Given the description of an element on the screen output the (x, y) to click on. 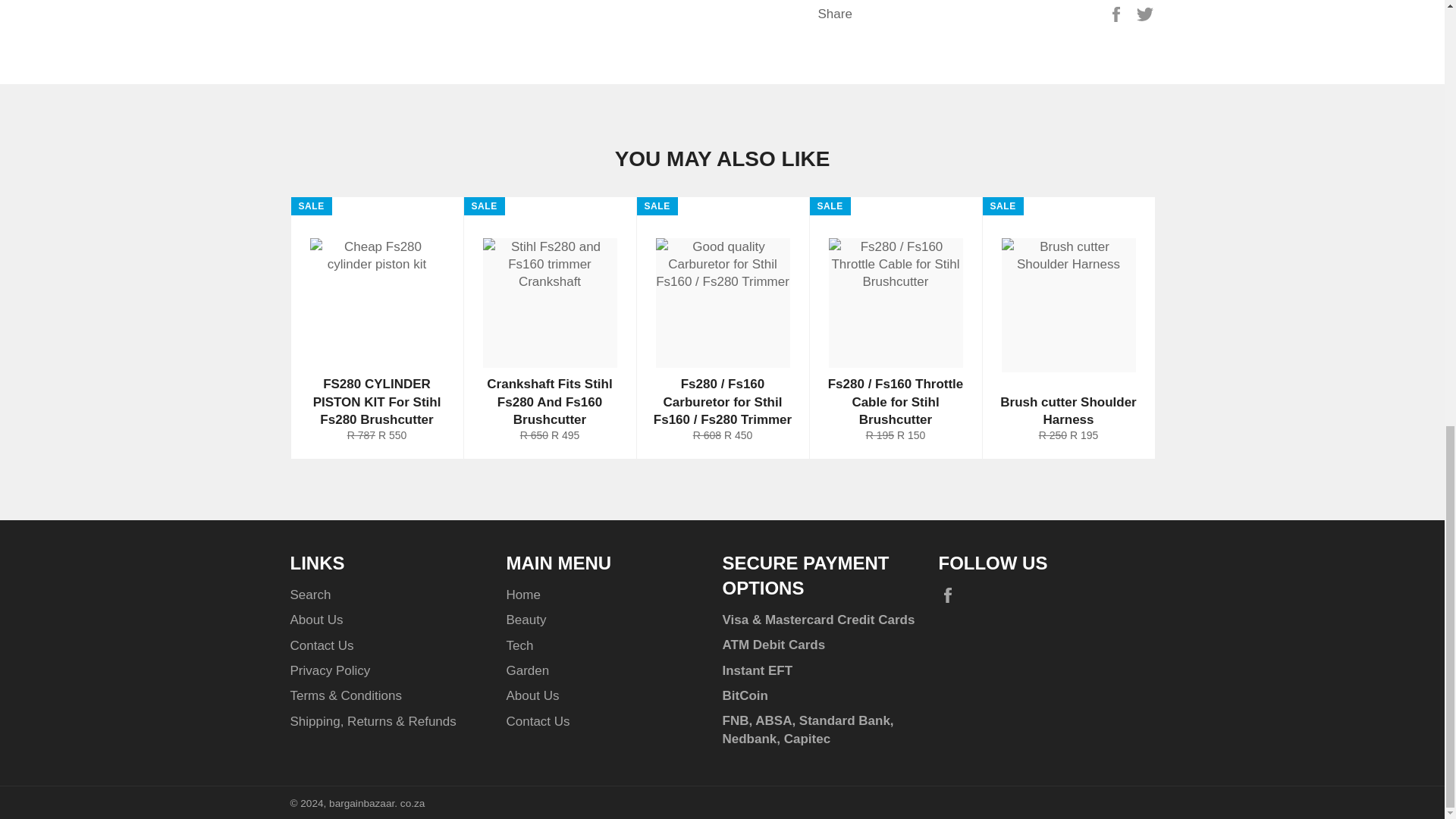
Tweet on Twitter (1144, 13)
bargainbazaar on Facebook (951, 595)
Share on Facebook (1117, 13)
